Given the description of an element on the screen output the (x, y) to click on. 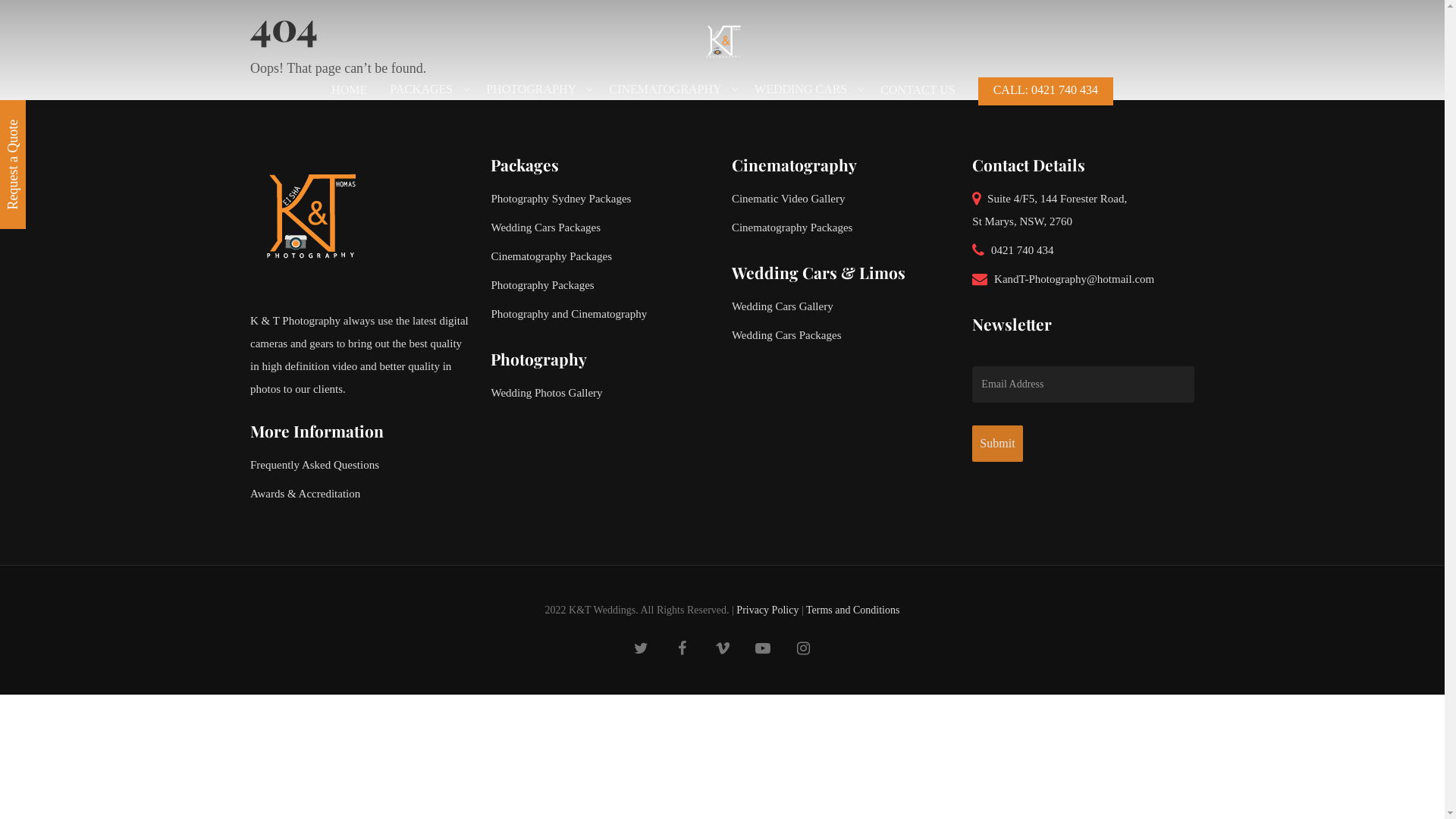
PACKAGES Element type: text (426, 97)
Wedding Cars Gallery Element type: text (842, 305)
Wedding Cars Packages Element type: text (601, 227)
Terms and Conditions Element type: text (852, 609)
Photography and Cinematography Element type: text (601, 313)
Privacy Policy Element type: text (767, 609)
0421 740 434 Element type: text (1083, 249)
KandT-Photography@hotmail.com Element type: text (1083, 278)
Frequently Asked Questions Element type: text (361, 464)
Submit Element type: text (997, 443)
Wedding Photos Gallery Element type: text (601, 392)
HOME Element type: text (349, 97)
CONTACT US Element type: text (917, 97)
Cinematography Packages Element type: text (601, 255)
Photography Packages Element type: text (601, 284)
Suite 4/F5, 144 Forester Road,
St Marys, NSW, 2760 Element type: text (1083, 209)
Awards & Accreditation Element type: text (361, 493)
Cinematography Packages Element type: text (842, 227)
Wedding Cars Packages Element type: text (842, 334)
CALL: 0421 740 434 Element type: text (1045, 97)
WEDDING CARS Element type: text (805, 97)
Photography Sydney Packages Element type: text (601, 198)
CINEMATOGRAPHY Element type: text (669, 97)
PHOTOGRAPHY Element type: text (536, 97)
Cinematic Video Gallery Element type: text (842, 198)
